Given the description of an element on the screen output the (x, y) to click on. 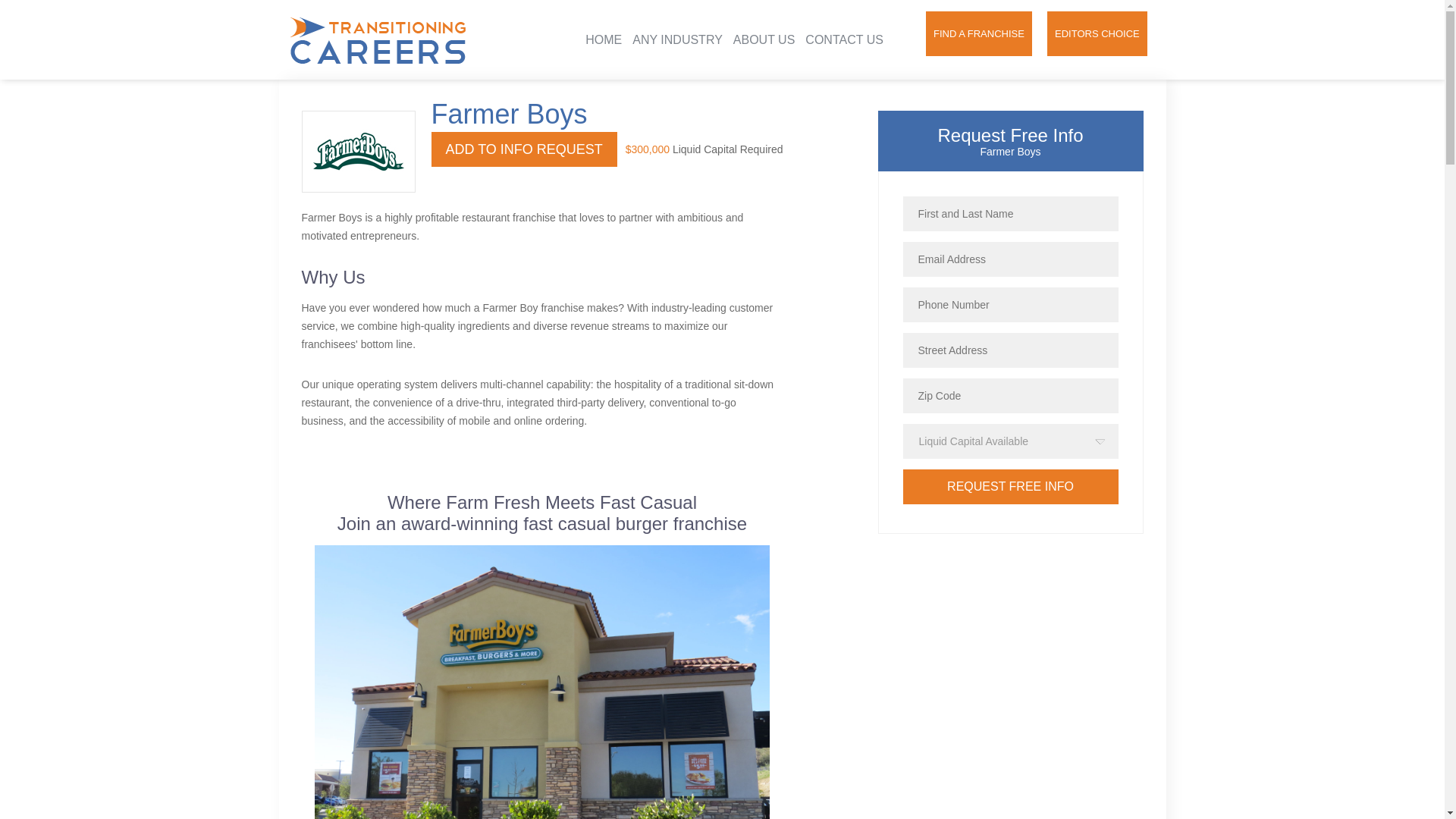
ADD TO INFO REQUEST (522, 149)
HOME (603, 39)
CONTACT US (844, 39)
ABOUT US (763, 39)
ANY INDUSTRY (676, 39)
Request free info (1010, 486)
EDITORS CHOICE (1096, 33)
Request free info (1010, 486)
FIND A FRANCHISE (979, 33)
